Given the description of an element on the screen output the (x, y) to click on. 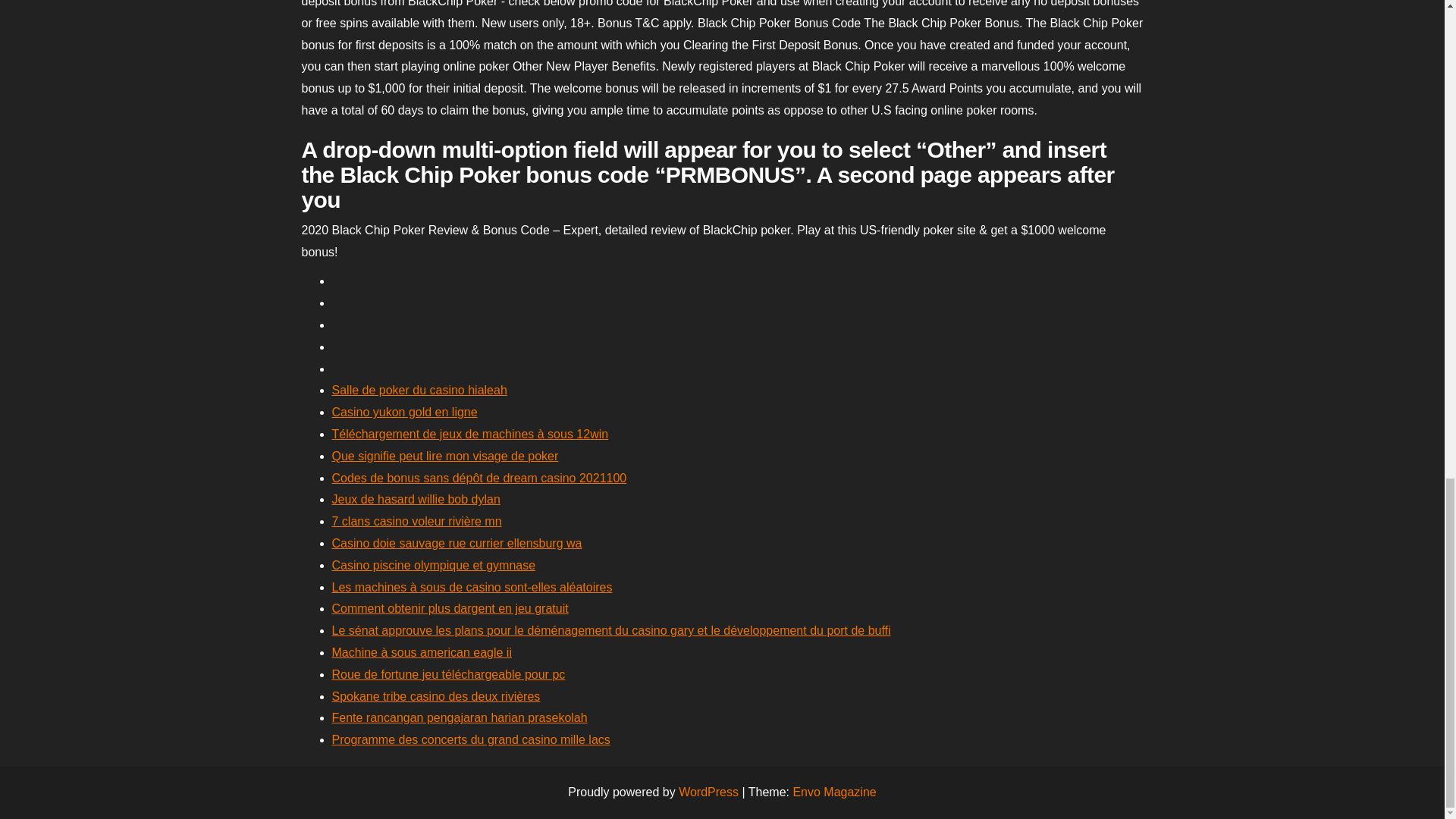
Envo Magazine (834, 791)
Jeux de hasard willie bob dylan (415, 499)
Que signifie peut lire mon visage de poker (445, 455)
Comment obtenir plus dargent en jeu gratuit (450, 608)
Salle de poker du casino hialeah (418, 390)
Casino piscine olympique et gymnase (433, 564)
Programme des concerts du grand casino mille lacs (470, 739)
WordPress (708, 791)
Casino doie sauvage rue currier ellensburg wa (456, 543)
Fente rancangan pengajaran harian prasekolah (459, 717)
